Given the description of an element on the screen output the (x, y) to click on. 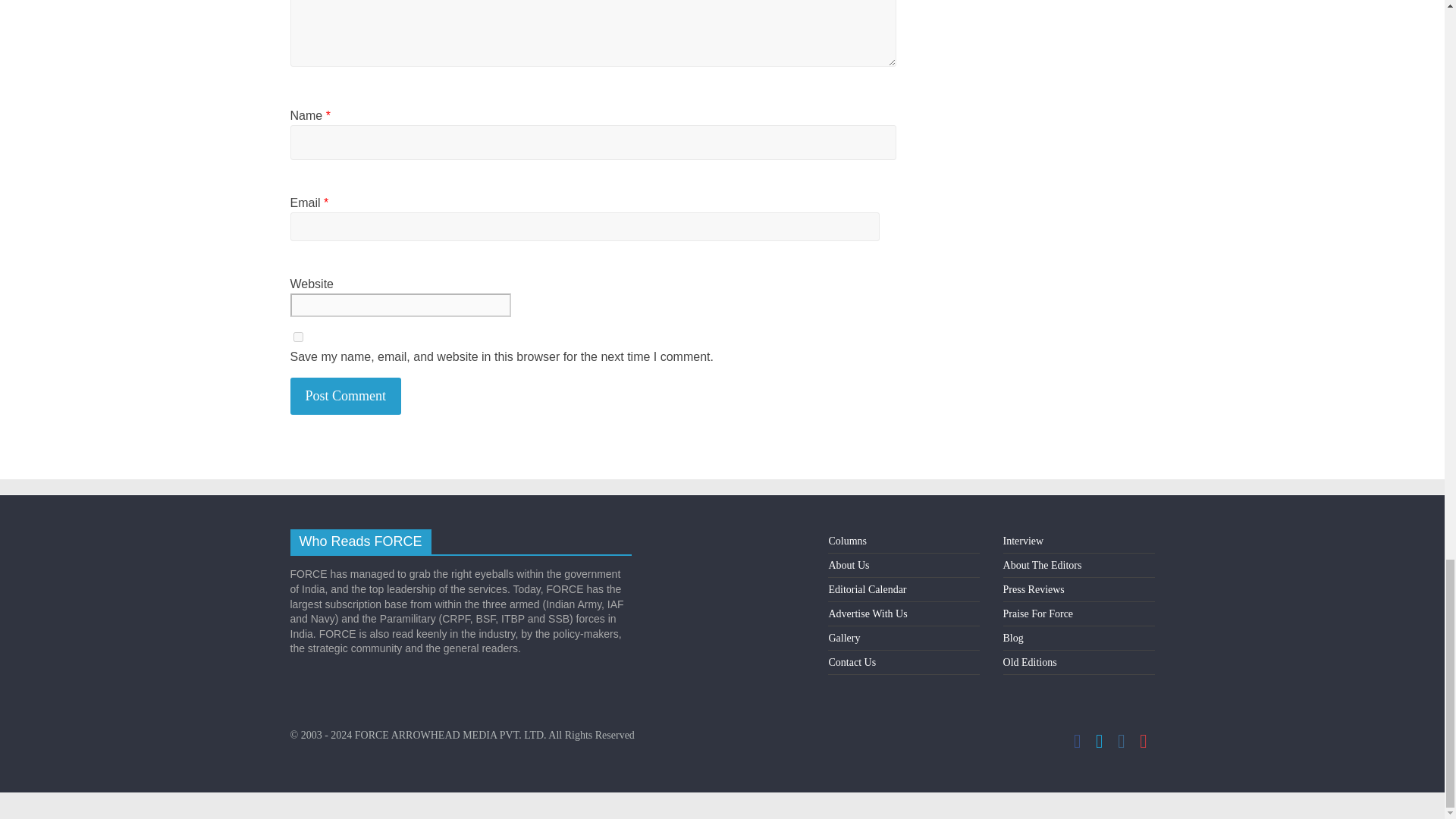
yes (297, 337)
Post Comment (345, 395)
